Given the description of an element on the screen output the (x, y) to click on. 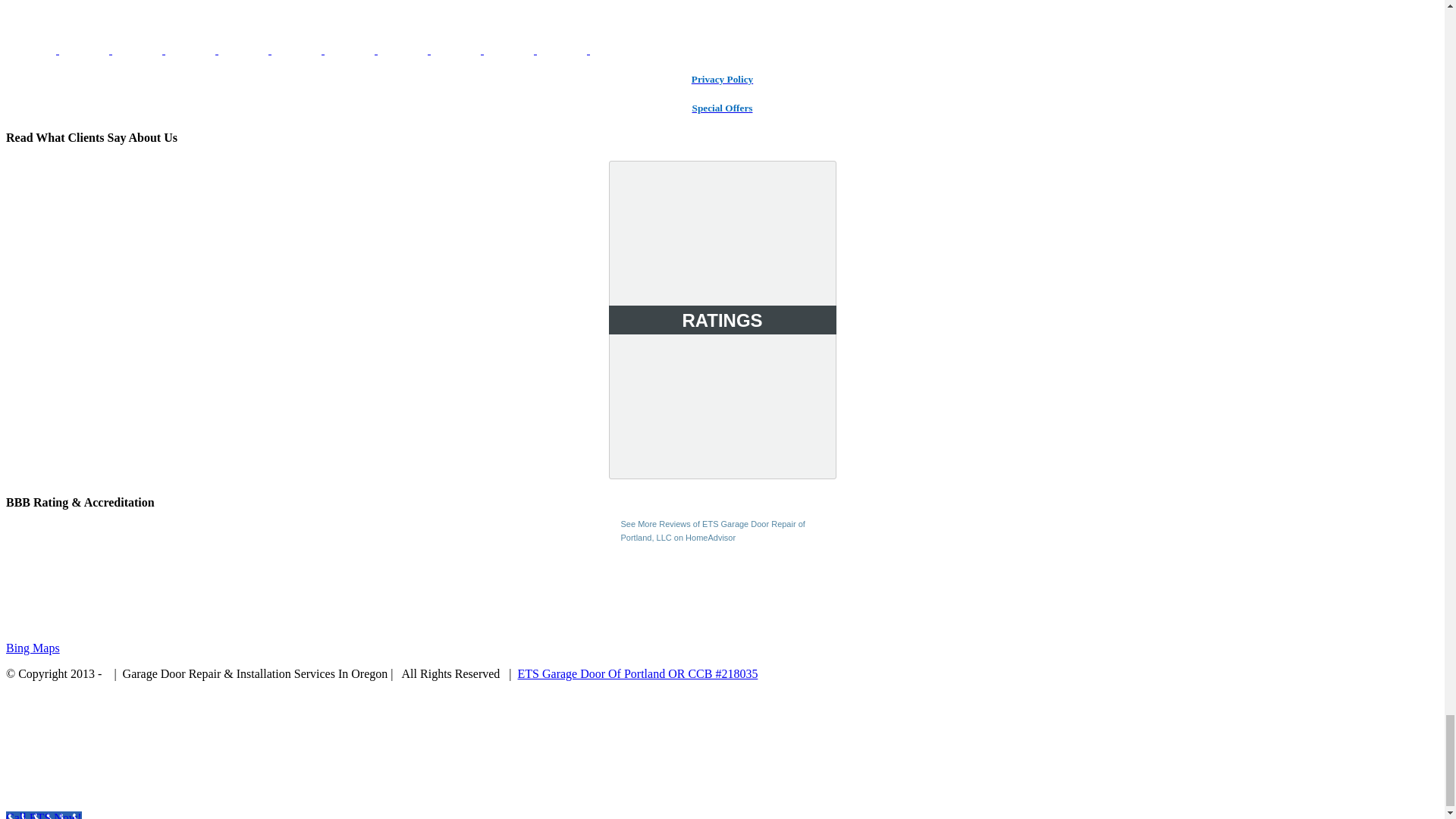
Garage Door Spring Repair In Albany OR (85, 49)
Garage Door Repair In Salem OR (138, 49)
Frost look Garage Door Installation In Corvallis OR (32, 49)
